Given the description of an element on the screen output the (x, y) to click on. 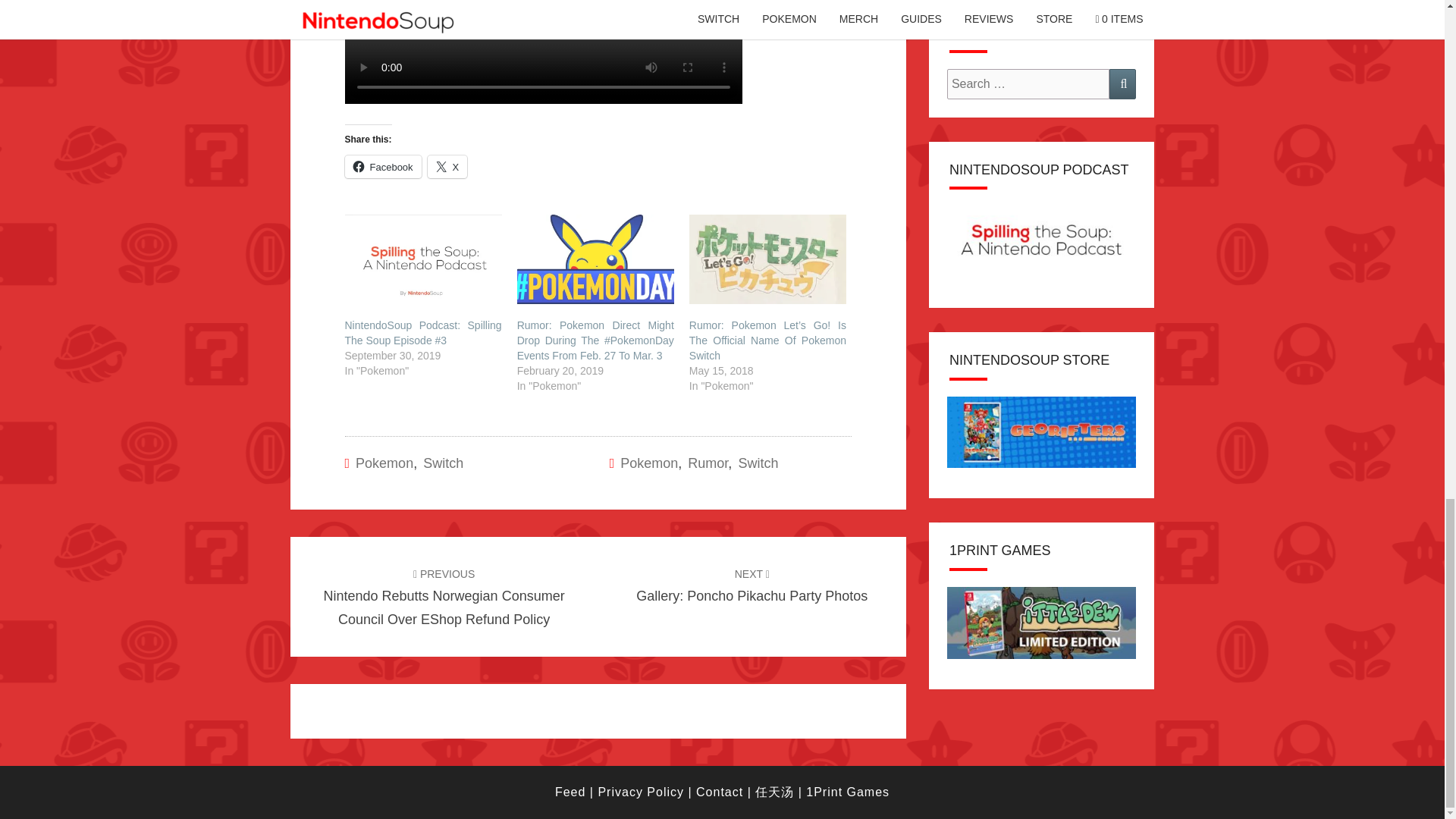
Pokemon (751, 584)
Click to share on Facebook (649, 462)
Switch (381, 166)
Switch (443, 462)
Click to share on X (757, 462)
Pokemon (447, 166)
X (384, 462)
Rumor (447, 166)
Facebook (707, 462)
